Given the description of an element on the screen output the (x, y) to click on. 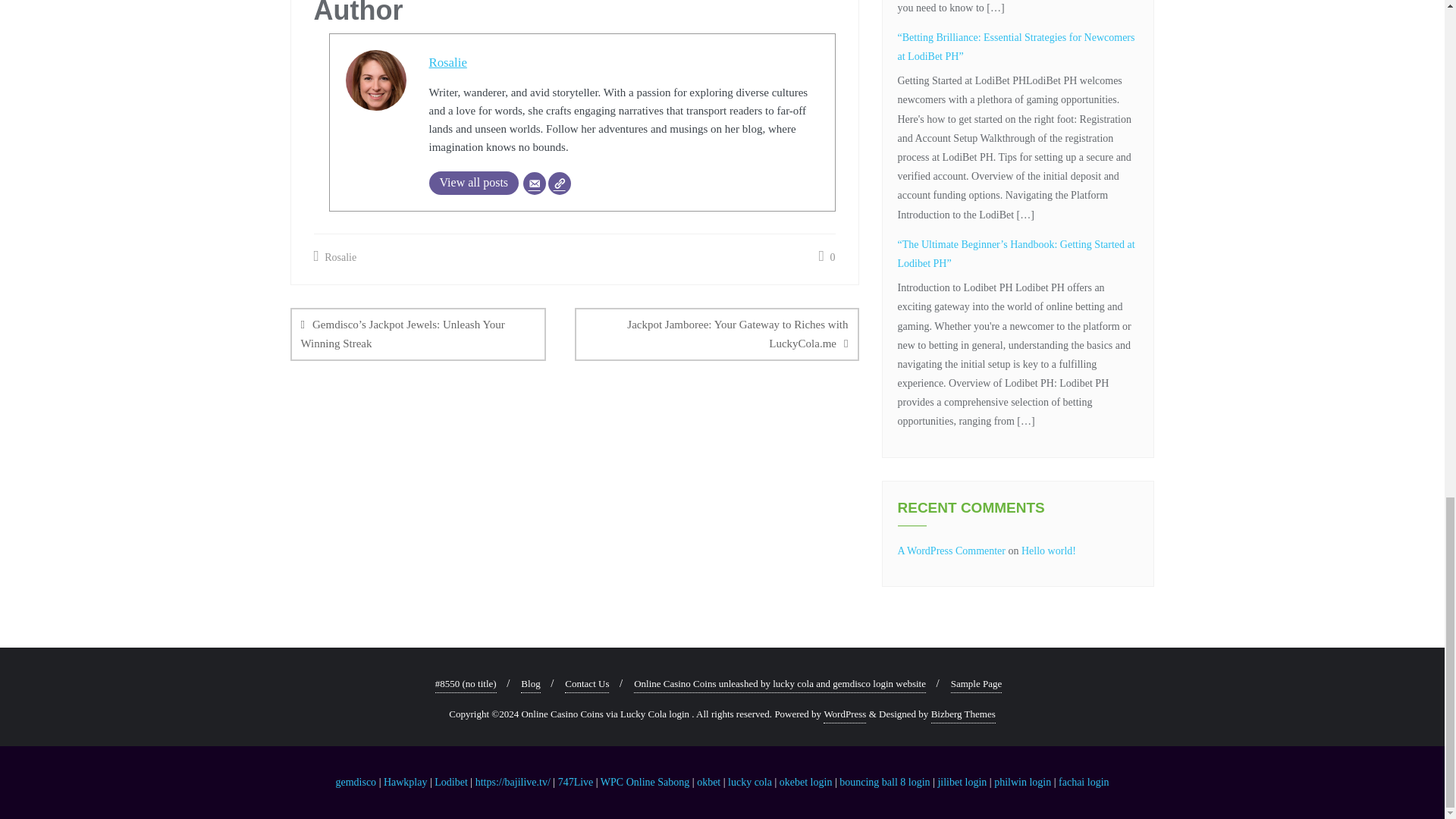
Hello world! (1048, 550)
Contact Us (586, 683)
View all posts (474, 182)
A WordPress Commenter (952, 550)
Blog (530, 683)
Rosalie (335, 257)
Rosalie (448, 62)
Rosalie (448, 62)
Jackpot Jamboree: Your Gateway to Riches with LuckyCola.me (717, 334)
View all posts (474, 182)
